Given the description of an element on the screen output the (x, y) to click on. 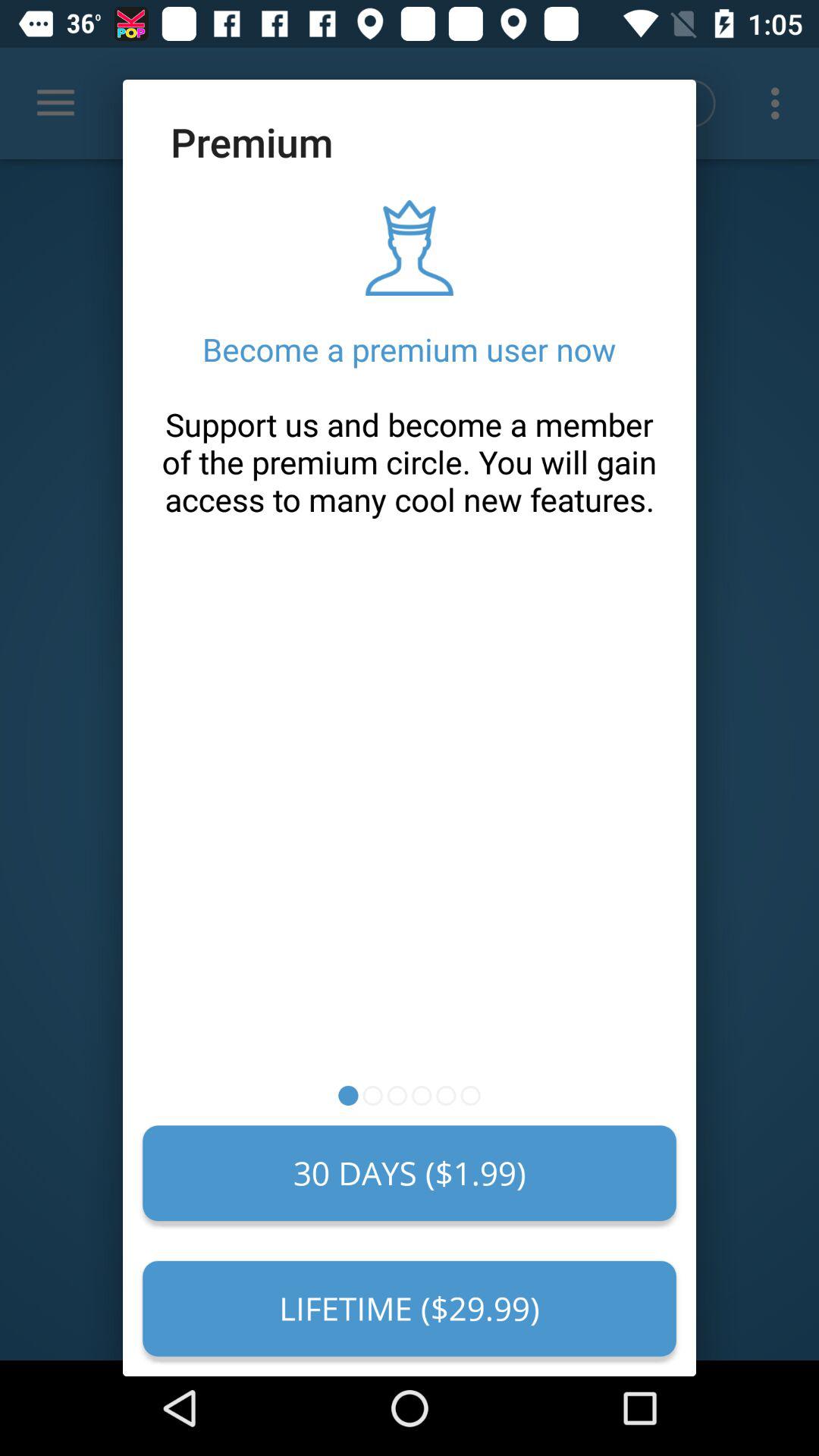
launch the 30 days 1 icon (409, 1173)
